Given the description of an element on the screen output the (x, y) to click on. 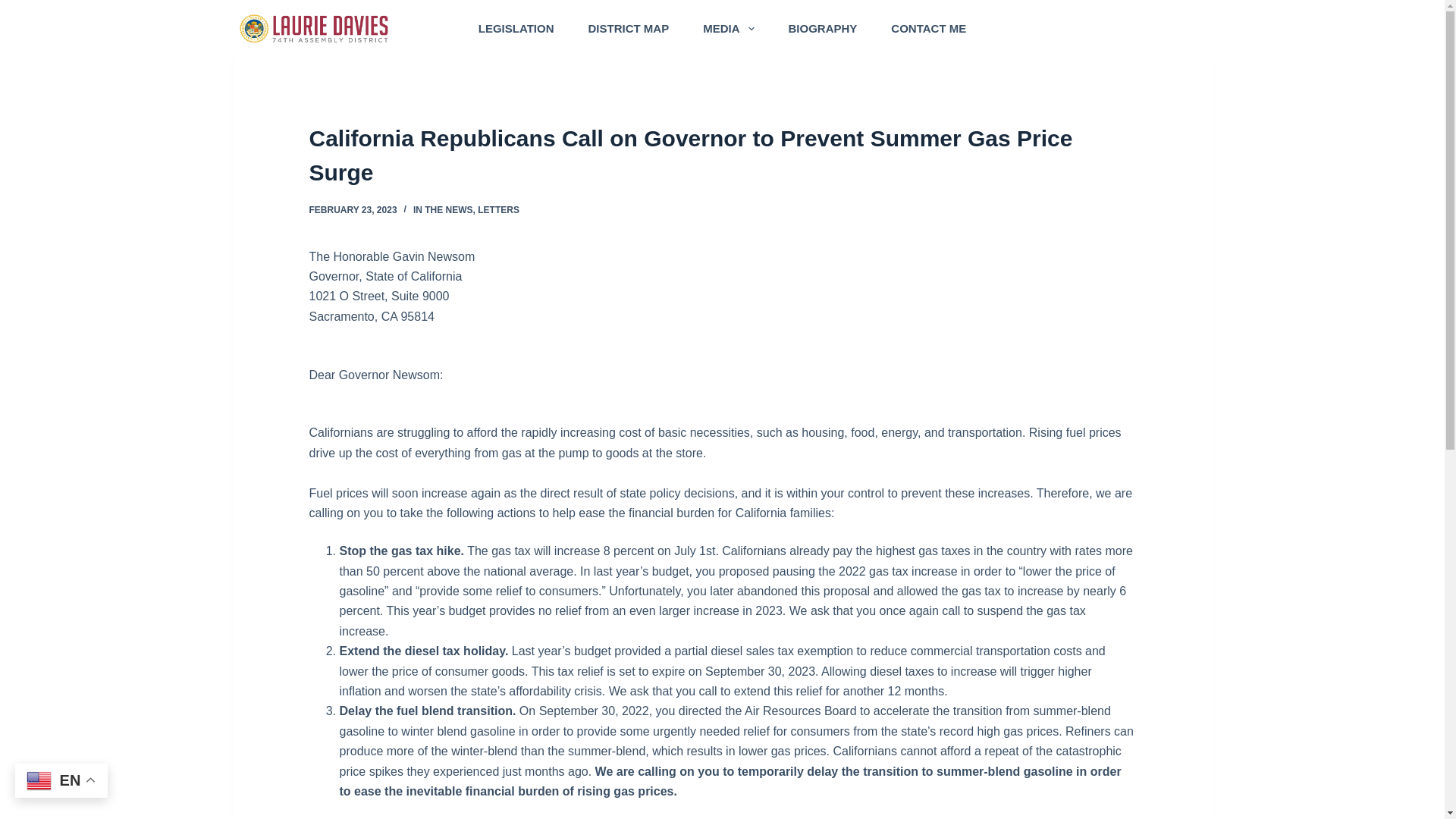
Skip to content (15, 7)
CONTACT ME (929, 28)
LETTERS (498, 209)
BIOGRAPHY (823, 28)
IN THE NEWS (443, 209)
DISTRICT MAP (627, 28)
LEGISLATION (515, 28)
MEDIA (728, 28)
